Given the description of an element on the screen output the (x, y) to click on. 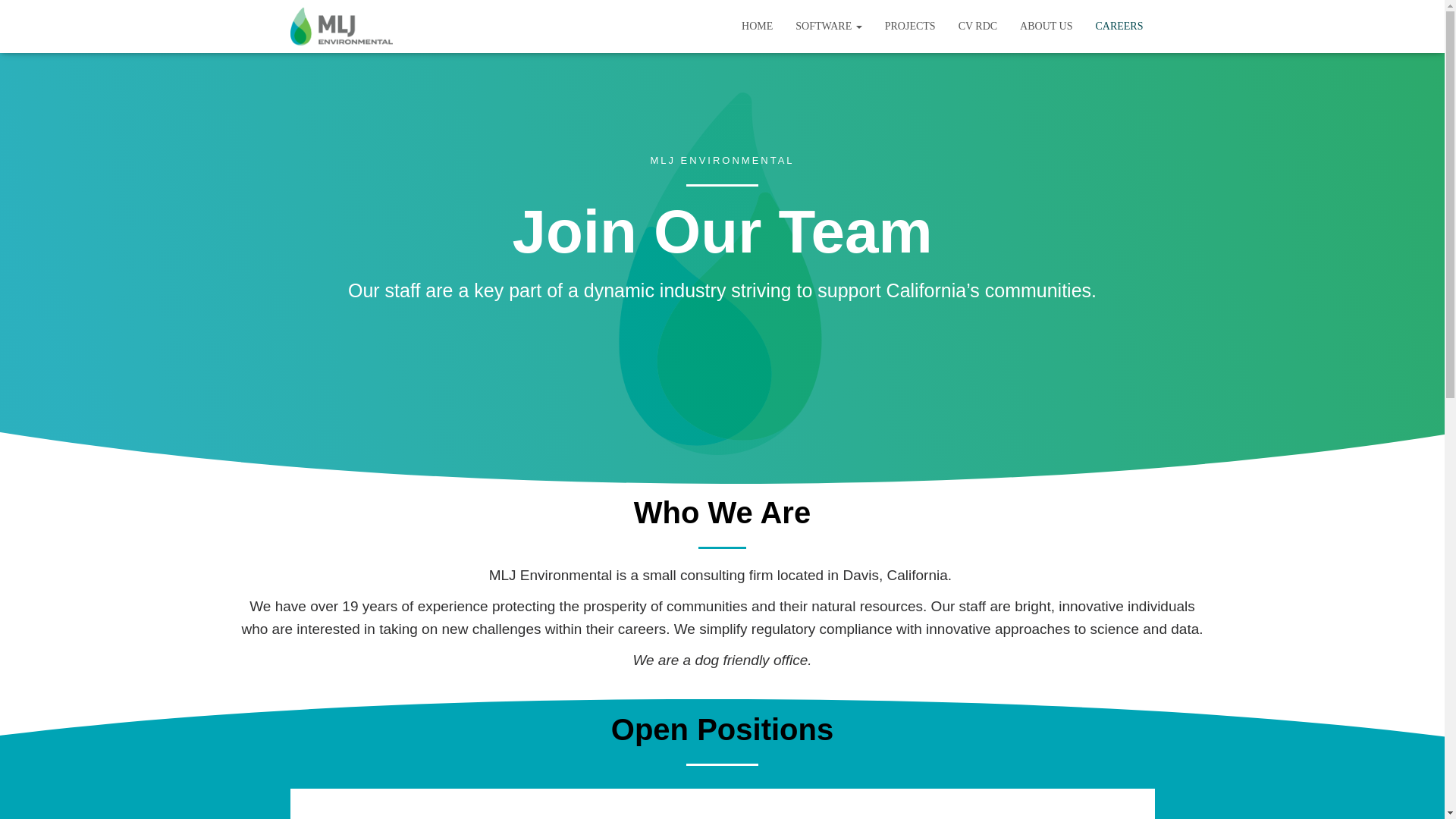
About Us (1046, 26)
CV RDC (978, 26)
PROJECTS (910, 26)
ABOUT US (1046, 26)
Home (757, 26)
Software (828, 26)
CAREERS (1118, 26)
MLJ Environmental (341, 26)
Projects (910, 26)
CV RDC (978, 26)
Careers (1118, 26)
SOFTWARE (828, 26)
HOME (757, 26)
